Given the description of an element on the screen output the (x, y) to click on. 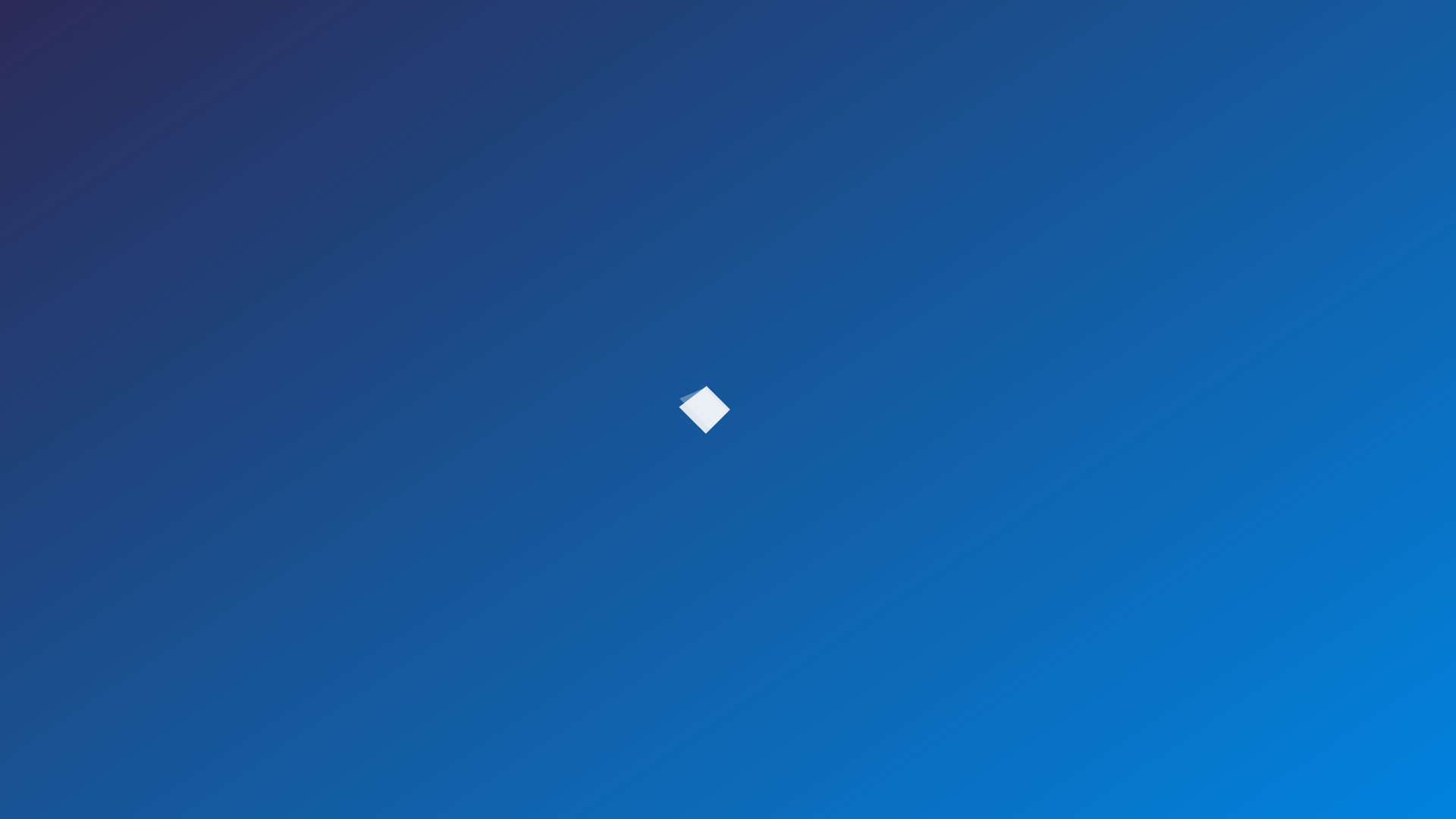
Newsletters RU (130, 577)
Address by the Director RU (158, 371)
Member Administrations RU (160, 449)
Cargo and Container Training Center RU (188, 616)
English (14, 305)
Meeting Docs RU (135, 513)
Adress by the Vice-Chair RU (161, 436)
Meeting Registration RU (151, 526)
Region (65, 422)
ROCB Europe Strategic Framework (177, 385)
